Given the description of an element on the screen output the (x, y) to click on. 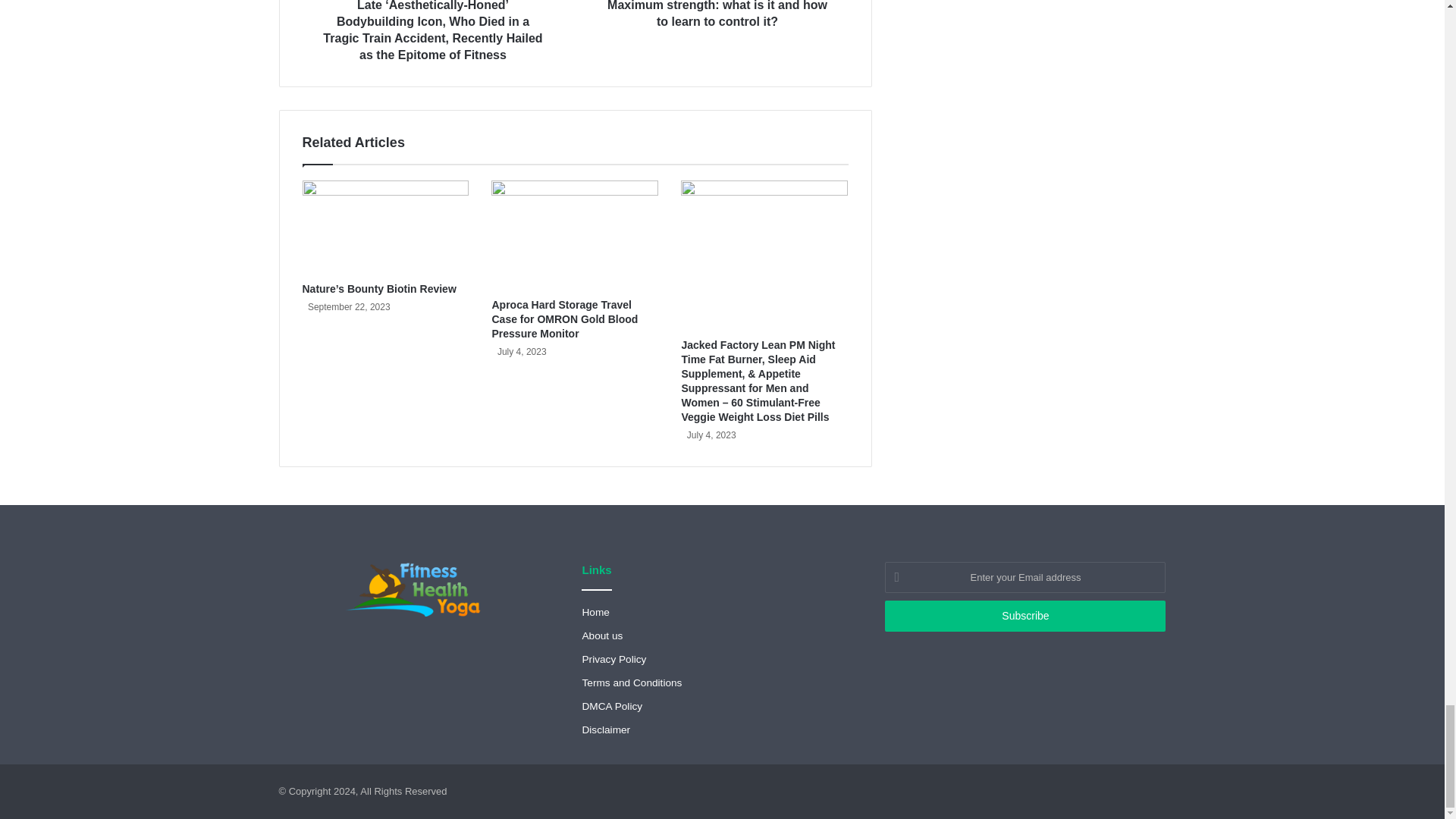
Subscribe (1025, 615)
